Given the description of an element on the screen output the (x, y) to click on. 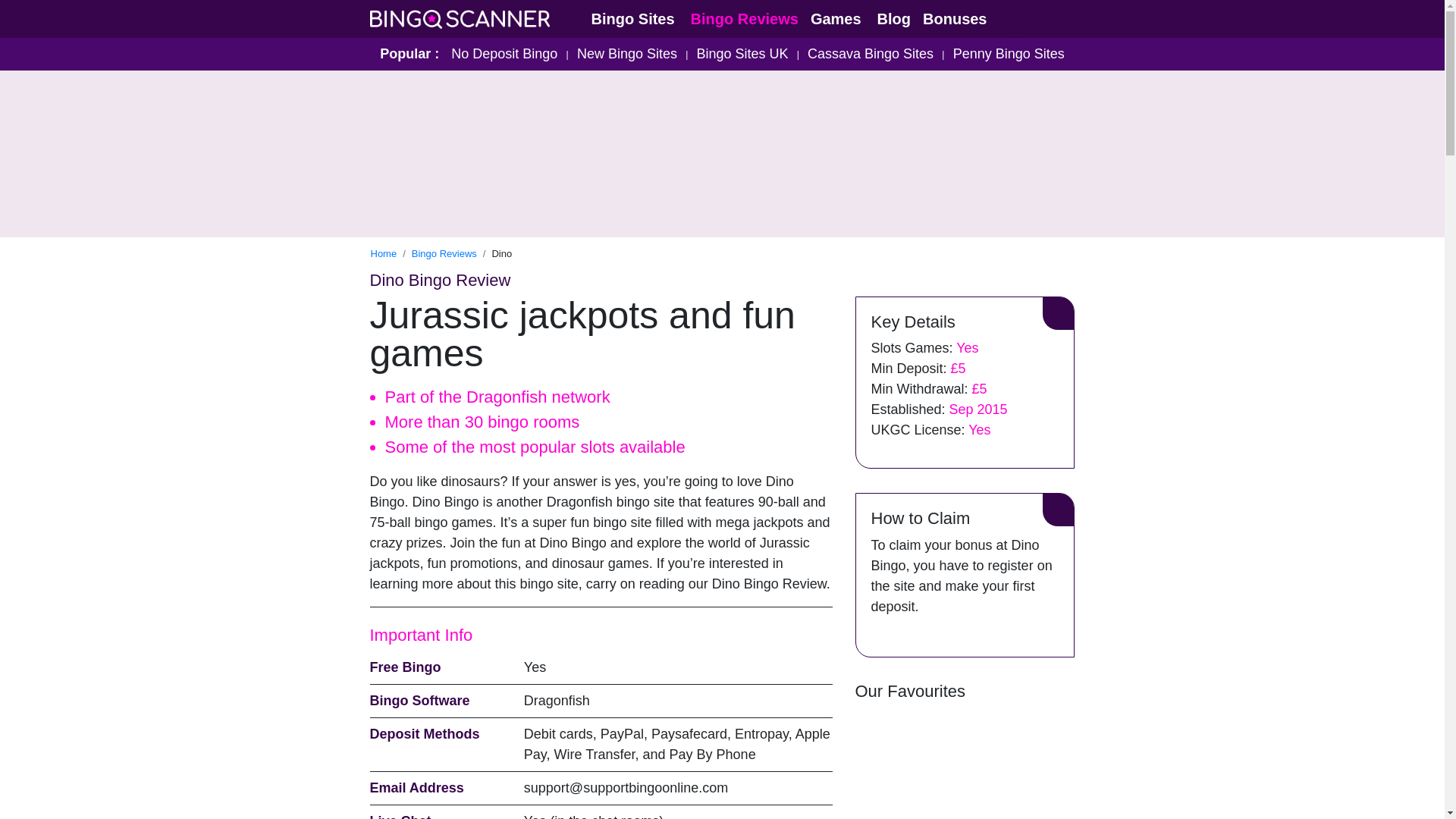
Games (837, 18)
Bingo Reviews (744, 18)
Bingo Reviews (444, 253)
Home (382, 253)
Popular : (409, 53)
No Deposit Bingo (504, 53)
Bonuses (956, 18)
New Bingo Sites (626, 53)
Penny Bingo Sites (1008, 53)
Bingo Sites (634, 18)
